Given the description of an element on the screen output the (x, y) to click on. 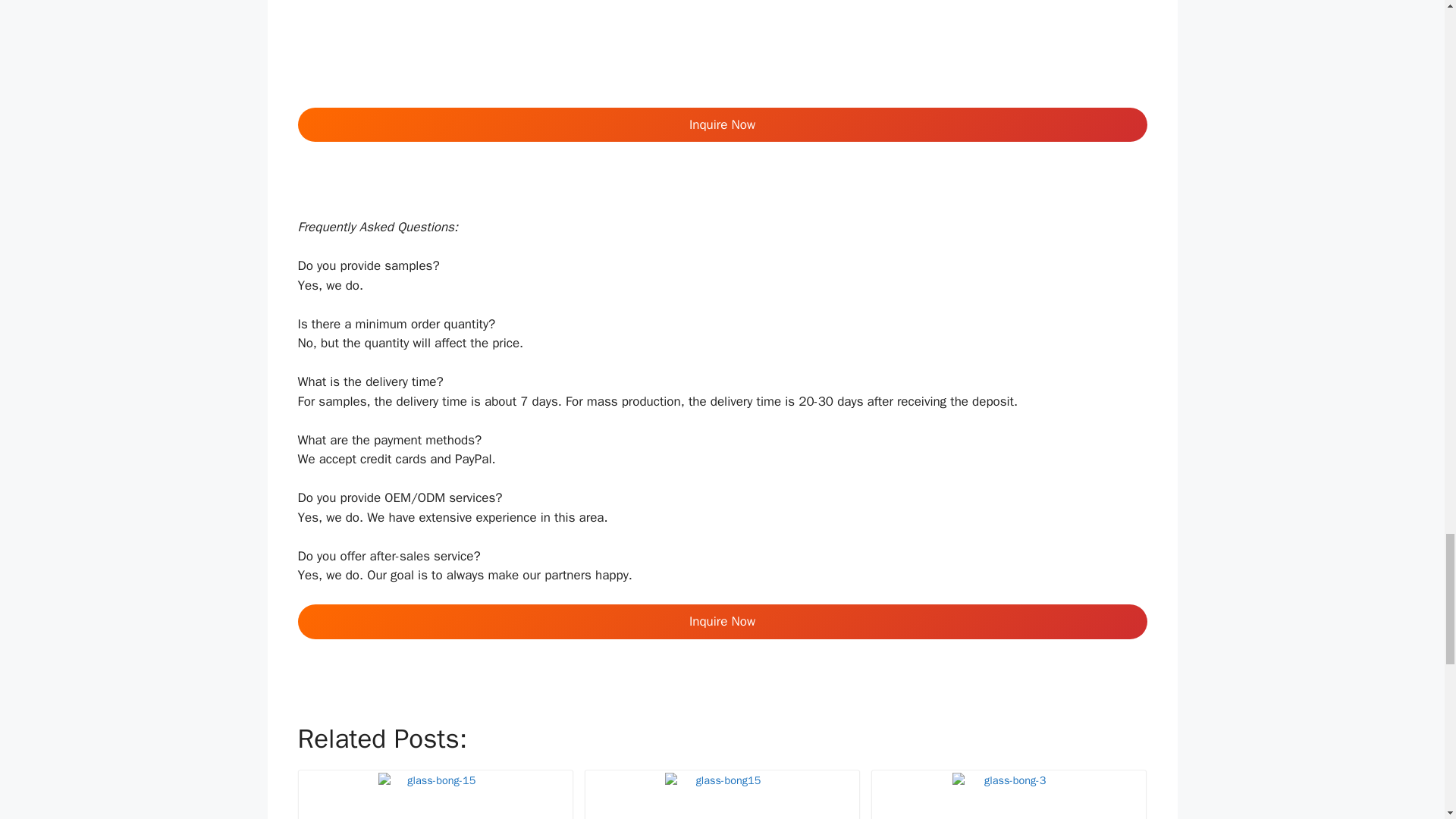
Inquire Now (722, 621)
Inquire Now (722, 124)
